Given the description of an element on the screen output the (x, y) to click on. 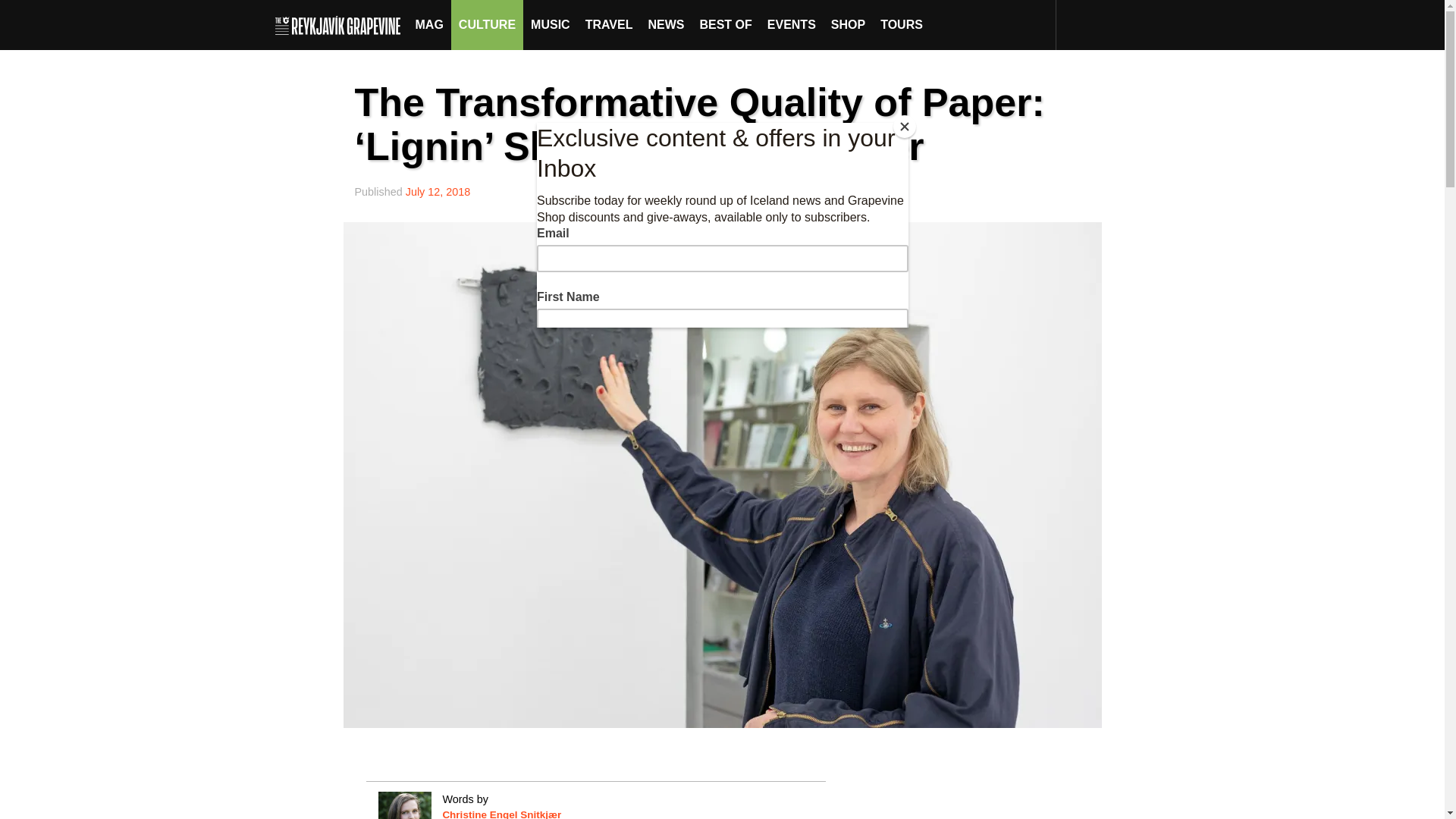
TRAVEL (609, 24)
The Reykjavik Grapevine (341, 24)
SHOP (848, 24)
CULTURE (486, 24)
EVENTS (792, 24)
TOURS (901, 24)
BEST OF (724, 24)
NEWS (665, 24)
MUSIC (550, 24)
